Given the description of an element on the screen output the (x, y) to click on. 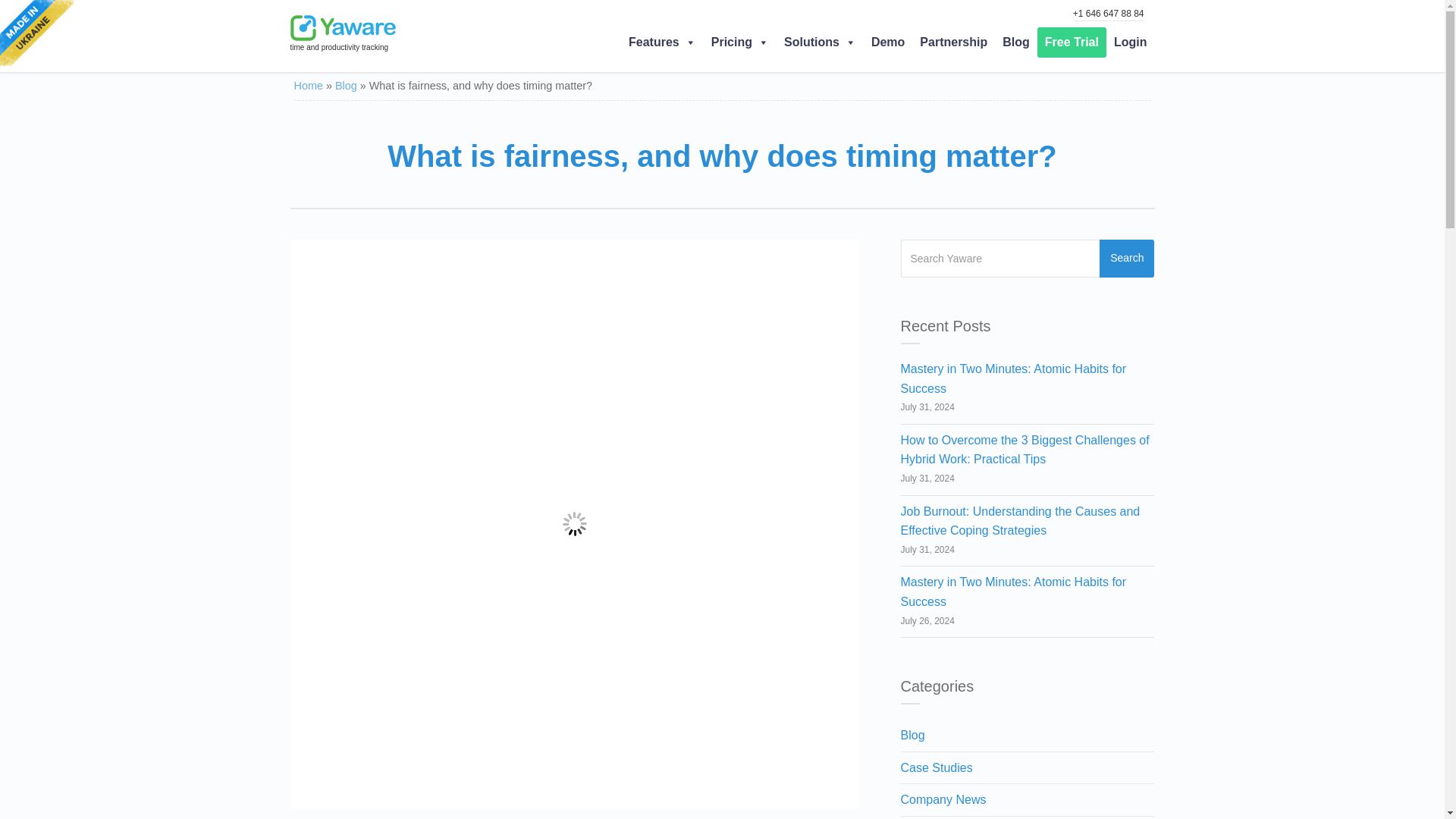
Features (662, 42)
Solutions (819, 42)
Pricing (739, 42)
Start your Yaware.TimeManager 14-days FREE TRIAL now! (1071, 42)
